Given the description of an element on the screen output the (x, y) to click on. 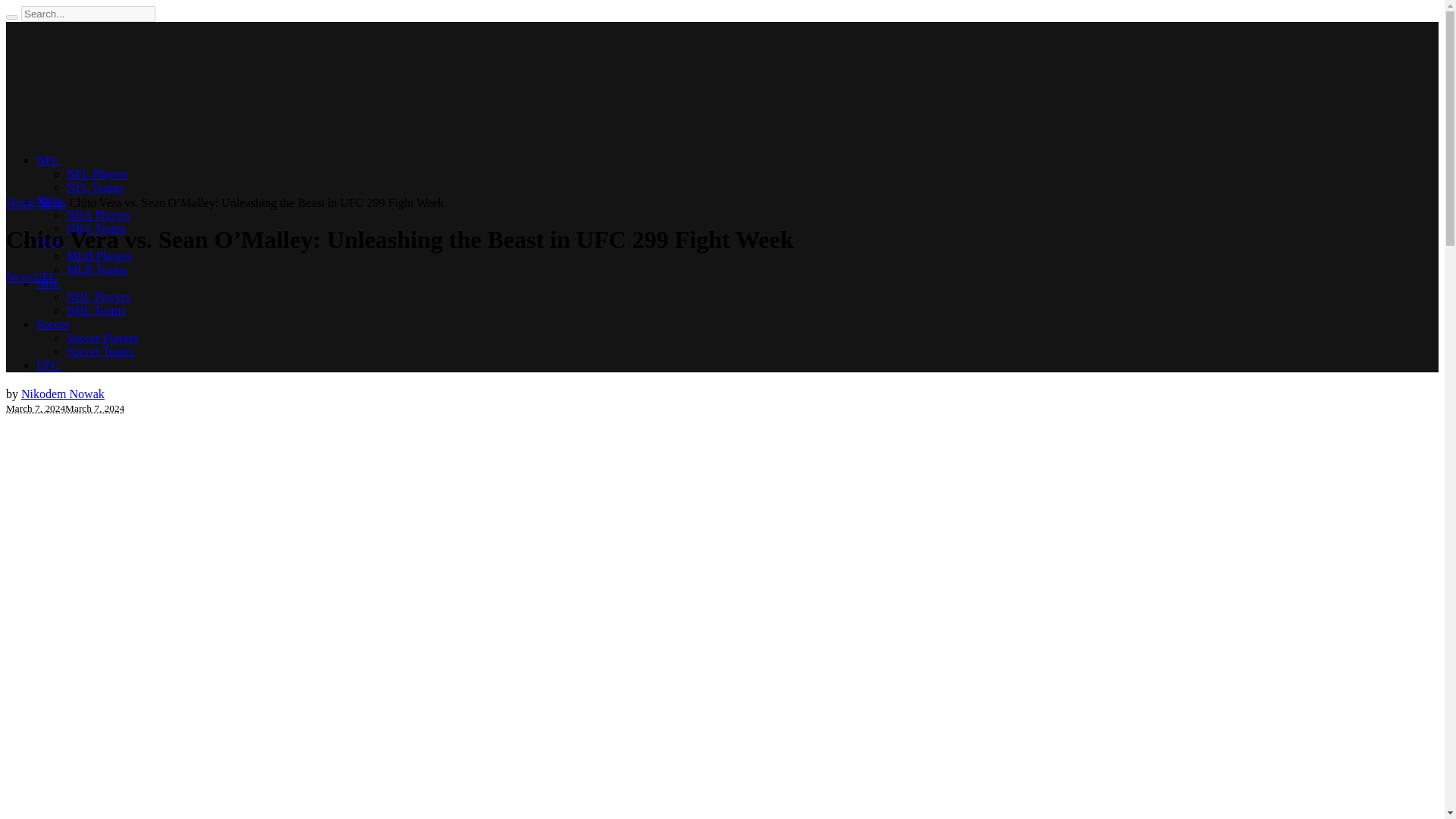
March 7, 2024 (35, 408)
NHL Players (97, 296)
Soccer Players (102, 337)
NBA Players (98, 214)
News (52, 202)
UFC (44, 277)
NHL (48, 282)
Nikodem Nowak (62, 393)
NFL Players (97, 173)
MLB Players (99, 255)
